Given the description of an element on the screen output the (x, y) to click on. 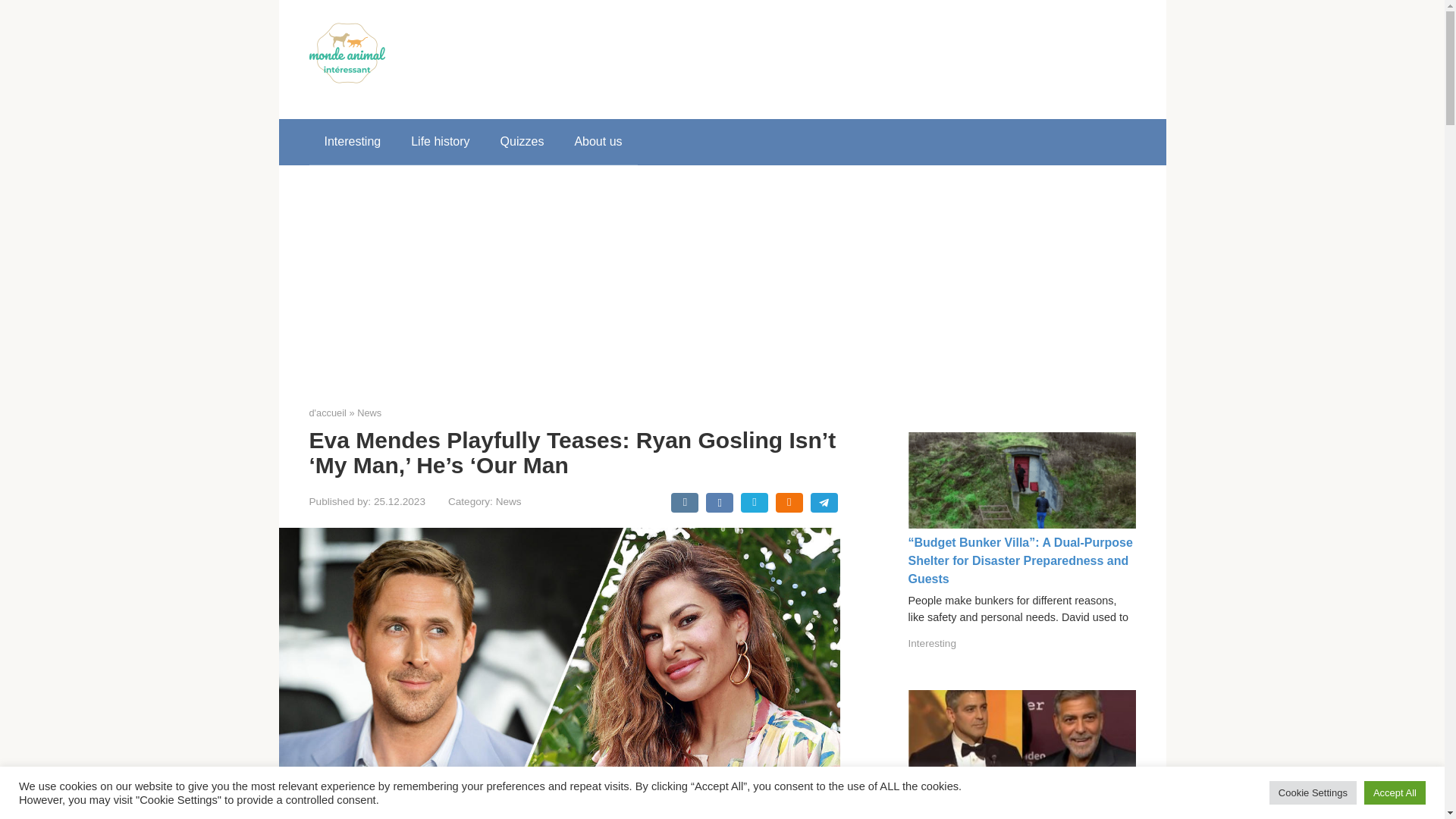
The most handsome famous men on our planet (1013, 806)
Life history (440, 141)
News (508, 501)
Interesting (932, 643)
Interesting (352, 141)
Quizzes (521, 141)
News (368, 412)
d'accueil (327, 412)
About us (598, 141)
